Given the description of an element on the screen output the (x, y) to click on. 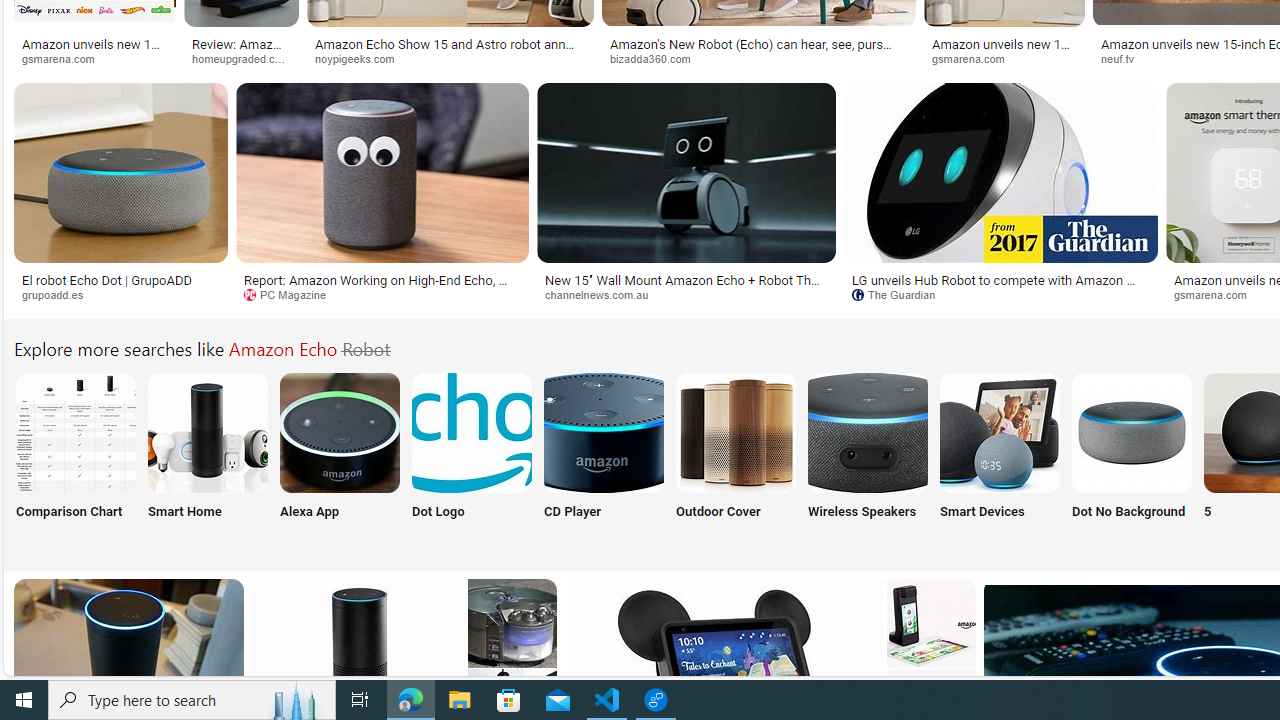
Amazon Echo Smart Home Smart Home (207, 458)
noypigeeks.com (450, 58)
PC Magazine (292, 294)
Amazon Echo Smart Devices (999, 432)
Dot No Background (1131, 457)
channelnews.com.au (604, 294)
Amazon Echo Wireless Speakers (867, 432)
El robot Echo Dot | GrupoADD (106, 279)
Alexa App. Amazon Echo (339, 432)
homeupgraded.com (248, 57)
